Given the description of an element on the screen output the (x, y) to click on. 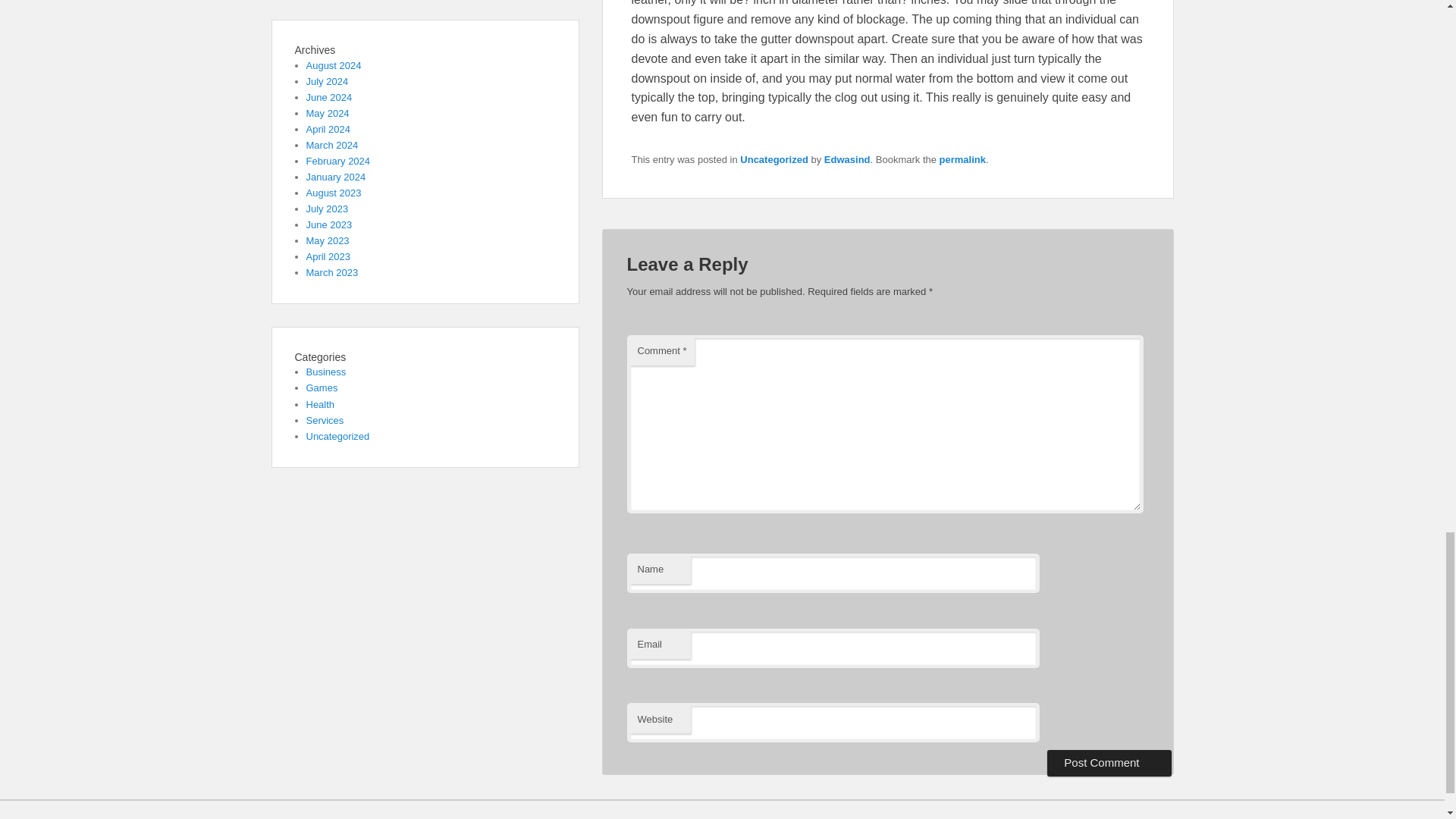
March 2024 (331, 144)
January 2024 (335, 176)
Post Comment (1108, 762)
June 2024 (328, 97)
permalink (962, 159)
Edwasind (847, 159)
Uncategorized (773, 159)
Permalink to Tips on how to Unclog Most Gutter Spouts (962, 159)
Post Comment (1108, 762)
May 2024 (327, 112)
